Given the description of an element on the screen output the (x, y) to click on. 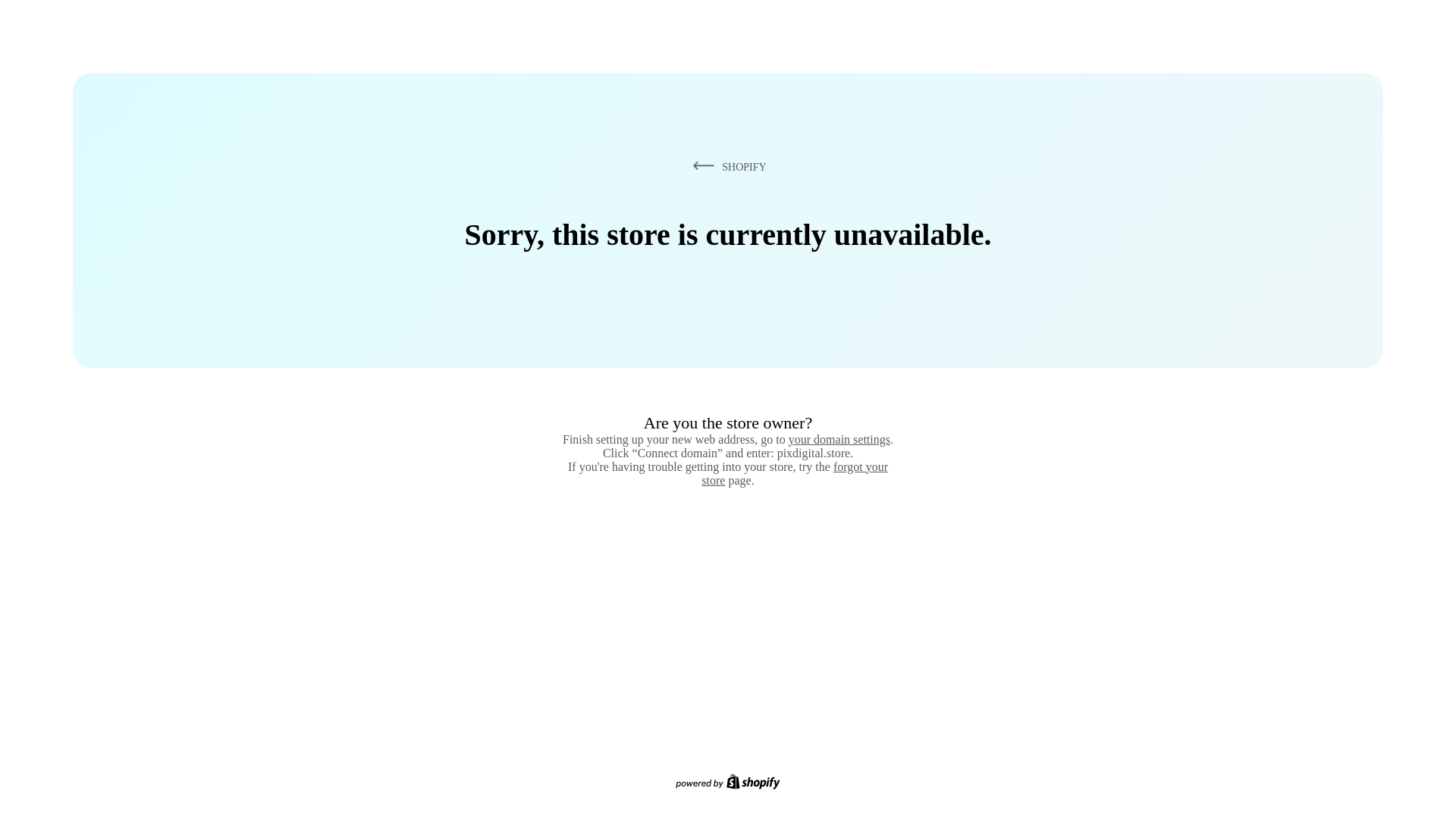
SHOPIFY (726, 166)
forgot your store (794, 473)
your domain settings (839, 439)
